Given the description of an element on the screen output the (x, y) to click on. 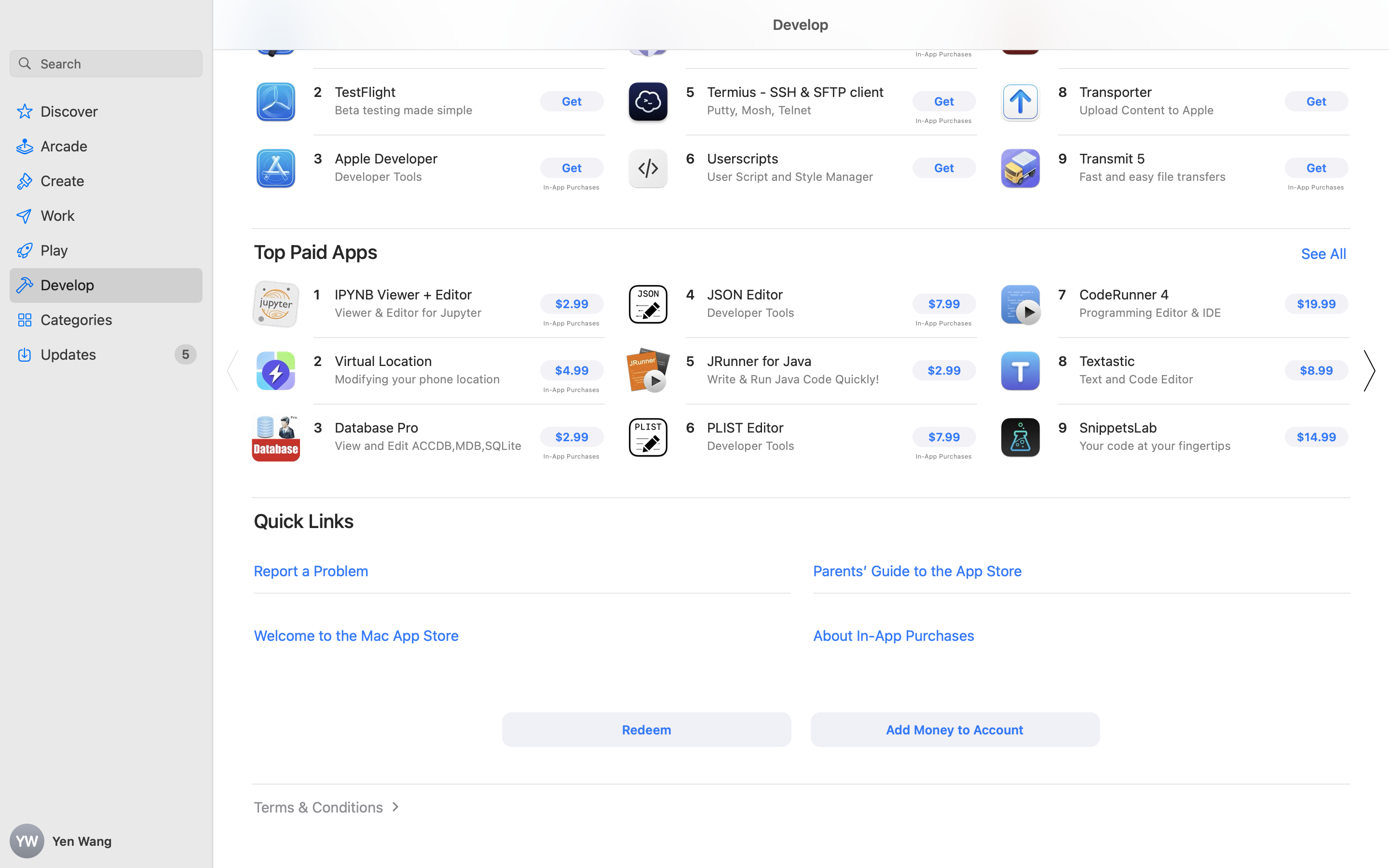
Yen Wang Element type: AXButton (106, 840)
Top Paid Apps Element type: AXStaticText (315, 251)
Develop Element type: AXButton (800, 42)
